Given the description of an element on the screen output the (x, y) to click on. 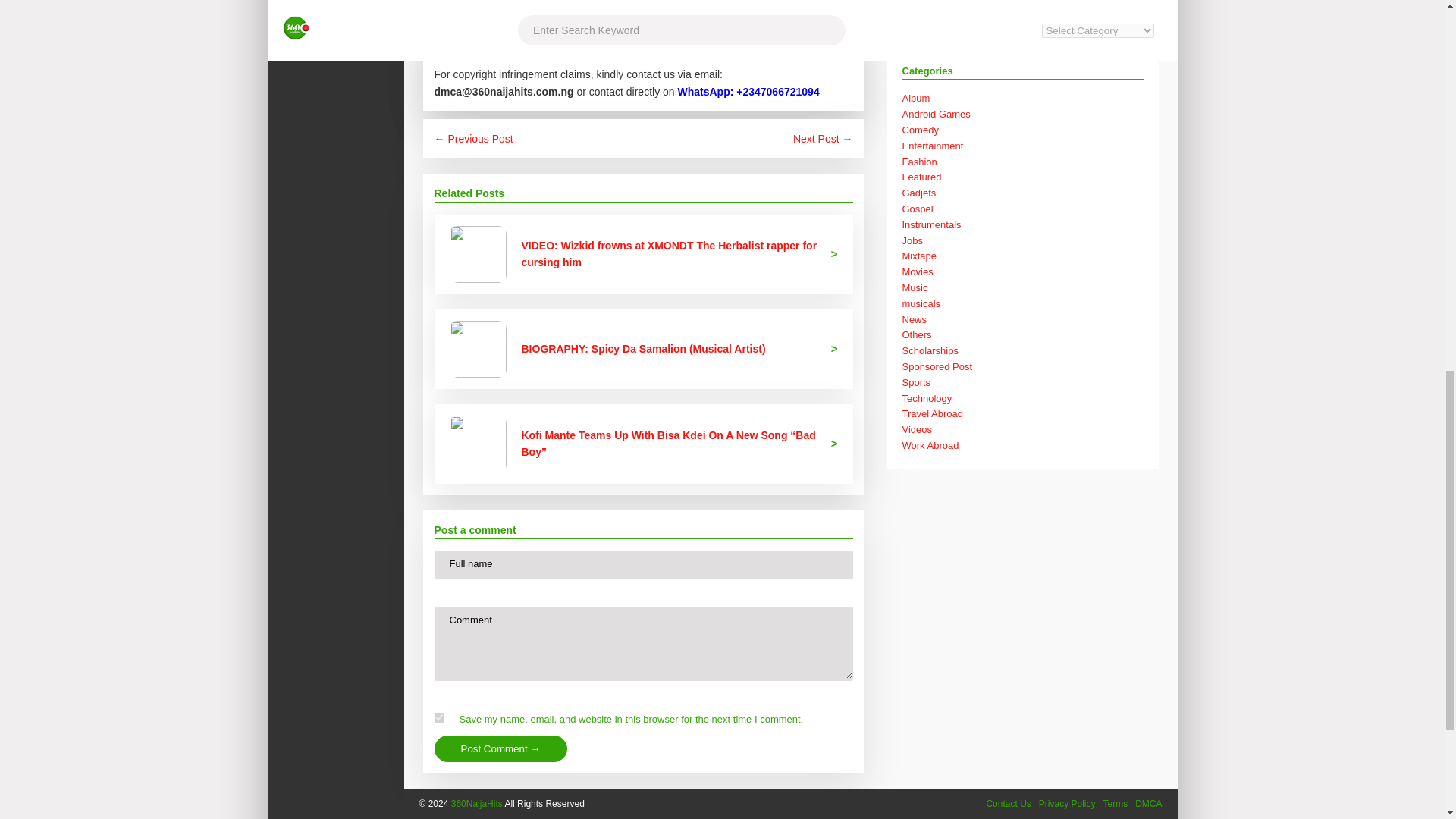
Comedy (920, 129)
Android Games (936, 113)
Album (916, 98)
yes (438, 717)
